Given the description of an element on the screen output the (x, y) to click on. 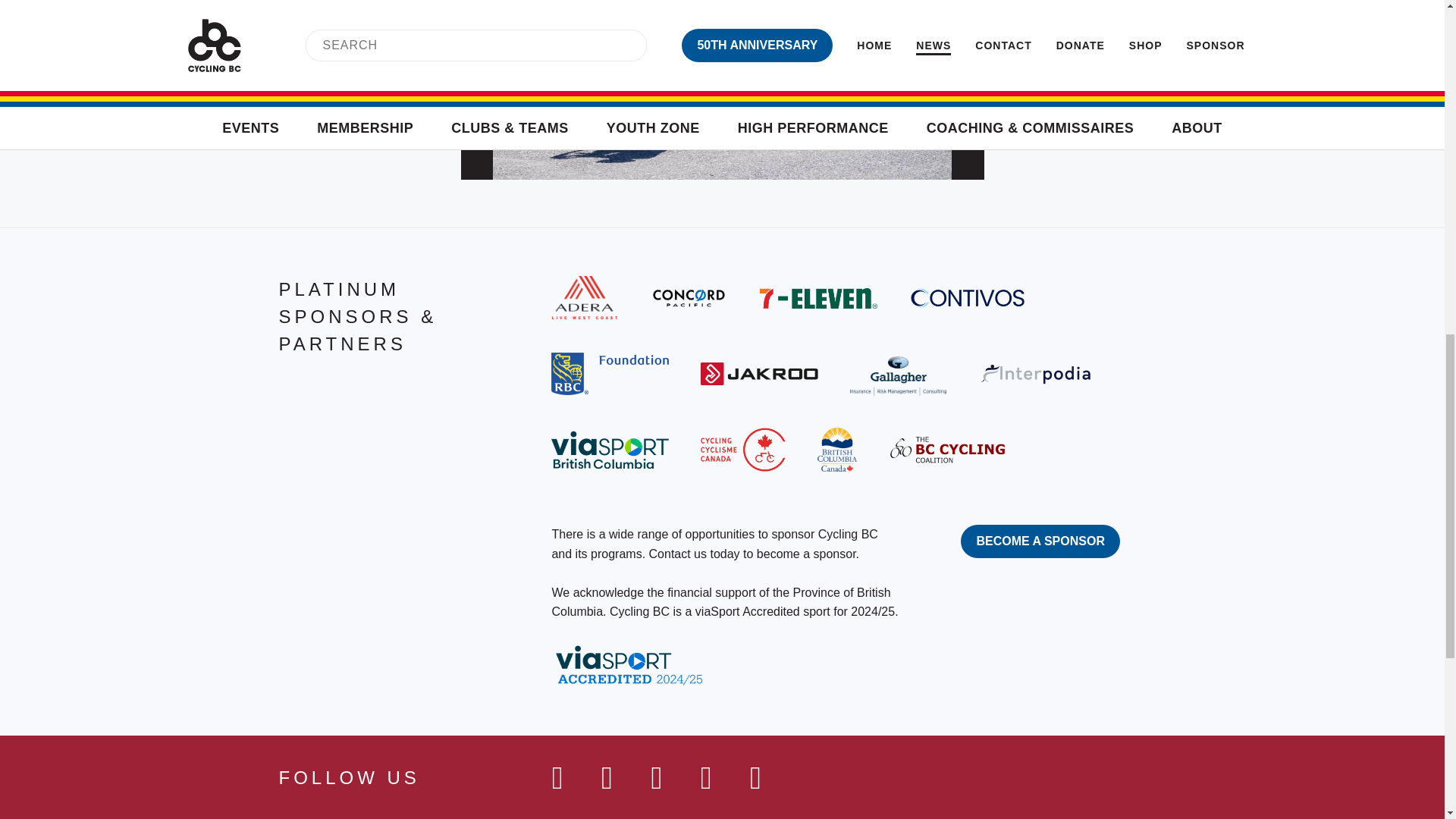
bc-logo (836, 449)
jakroo-logo (759, 373)
Interpodia logo (1037, 374)
Concord Pacific Logo Clear BG (688, 298)
Gallagher-Logo (898, 373)
cycling-canada-logo-long (742, 449)
logo-viasport-min (609, 449)
adera (584, 298)
BCCC-short-logo-2020-web (947, 448)
